Given the description of an element on the screen output the (x, y) to click on. 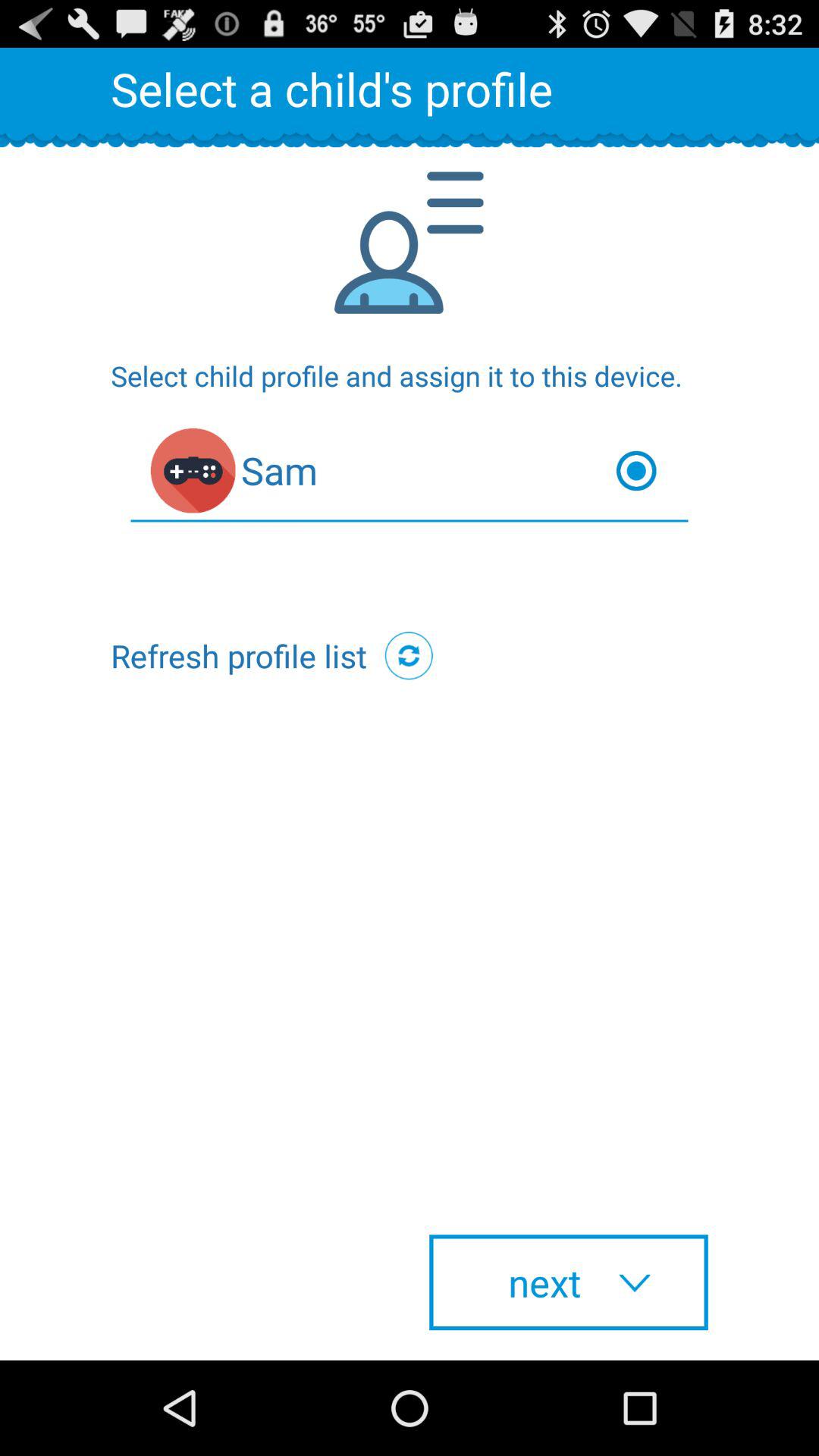
select the item below the select child profile item (409, 474)
